Given the description of an element on the screen output the (x, y) to click on. 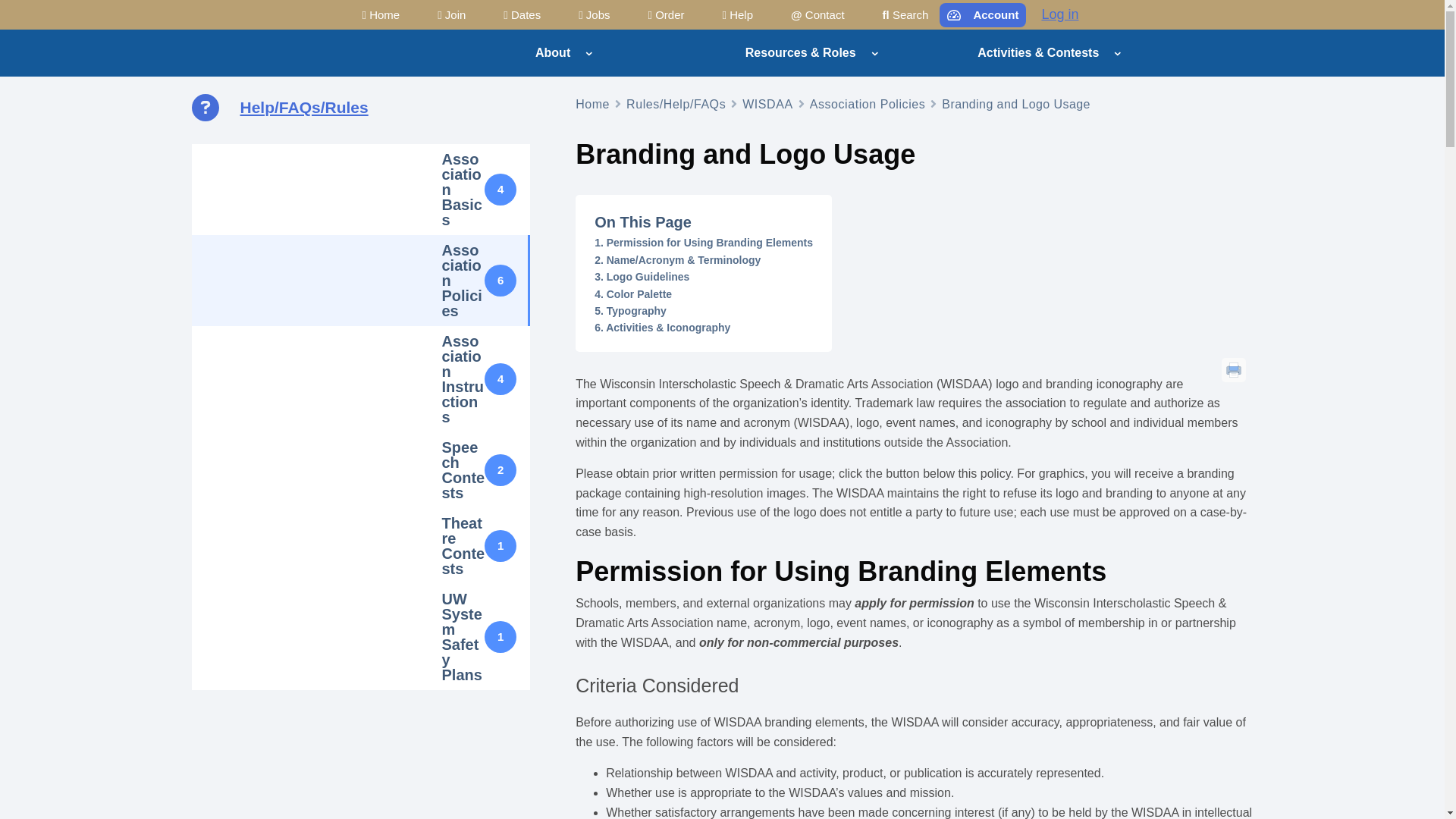
Join (451, 14)
About (552, 52)
Help (738, 14)
Order (666, 14)
Account (982, 15)
Log in (1059, 14)
Home (380, 14)
Home (592, 104)
Jobs (594, 14)
Dates (521, 14)
